Given the description of an element on the screen output the (x, y) to click on. 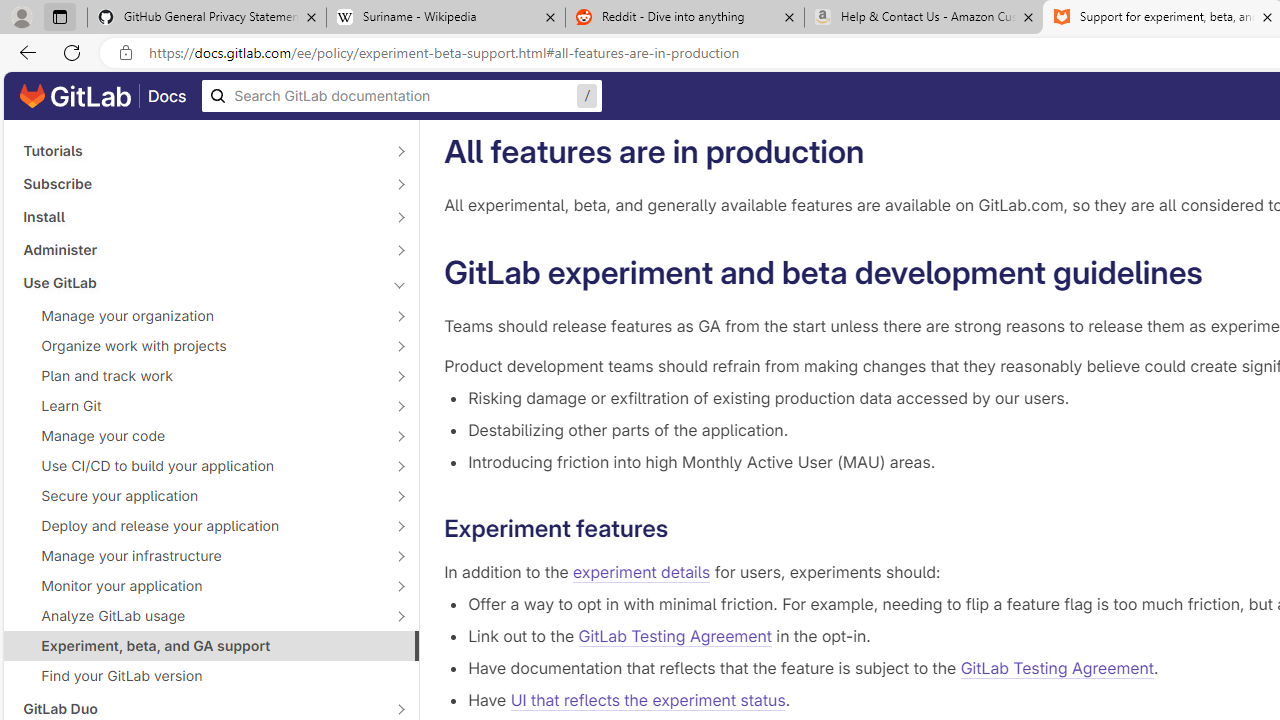
Find your GitLab version (211, 675)
Manage your organization (199, 315)
Permalink (684, 528)
Organize work with projects (199, 345)
Tutorials (199, 151)
/ (402, 95)
GitLab documentation home Docs (103, 96)
Use GitLab (199, 282)
UI that reflects the experiment status (647, 700)
Manage your infrastructure (199, 555)
Analyze GitLab usage (199, 615)
